Given the description of an element on the screen output the (x, y) to click on. 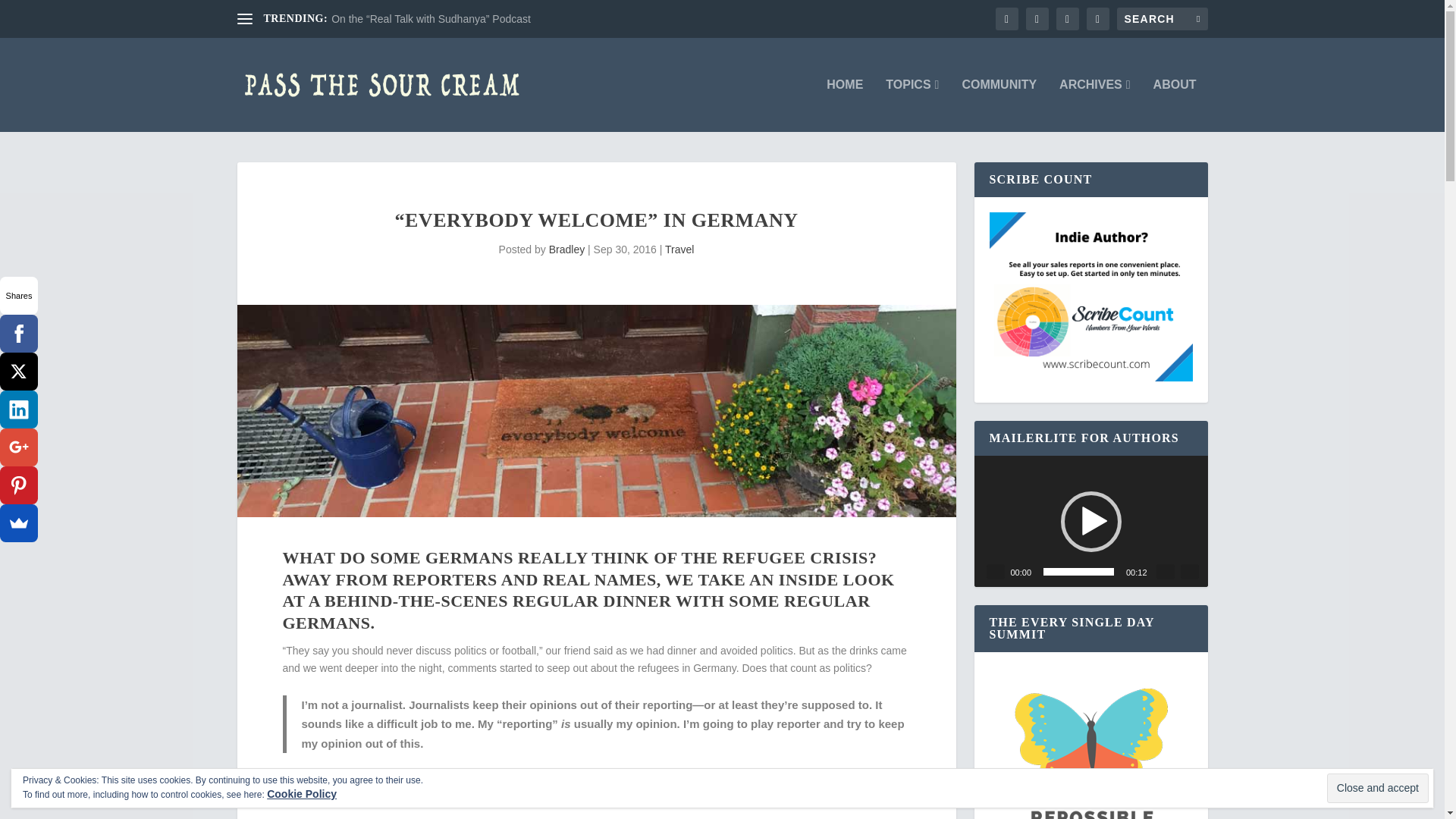
TOPICS (912, 104)
Close and accept (1377, 788)
Search for: (1161, 18)
